Given the description of an element on the screen output the (x, y) to click on. 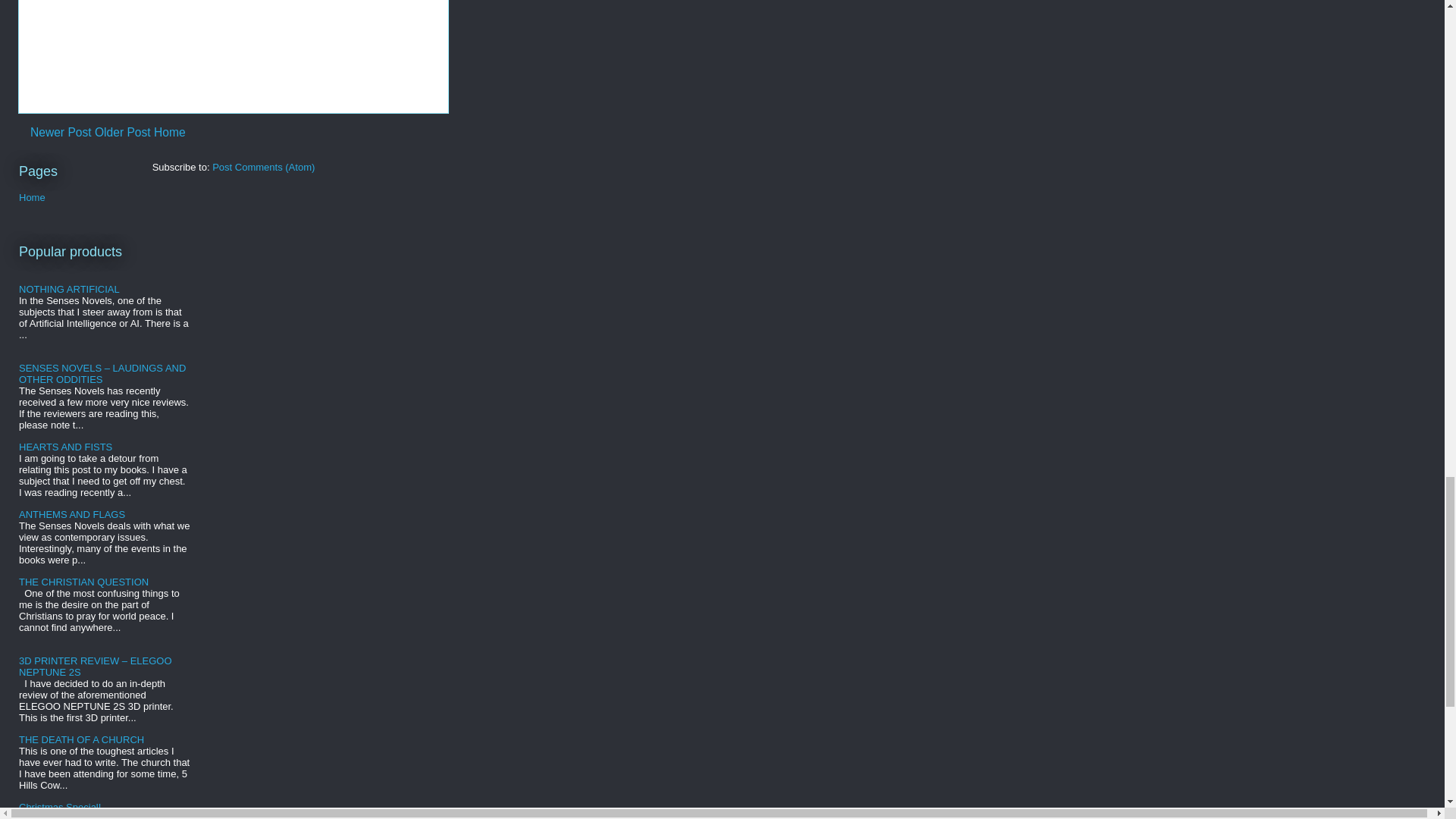
HEARTS AND FISTS (65, 446)
Newer Post (60, 132)
Home (170, 132)
Newer Post (60, 132)
NOTHING ARTIFICIAL (68, 288)
Christmas Special! (59, 807)
Home (31, 197)
Older Post (122, 132)
Older Post (122, 132)
THE CHRISTIAN QUESTION (83, 582)
THE DEATH OF A CHURCH (81, 739)
ANTHEMS AND FLAGS (71, 514)
